Given the description of an element on the screen output the (x, y) to click on. 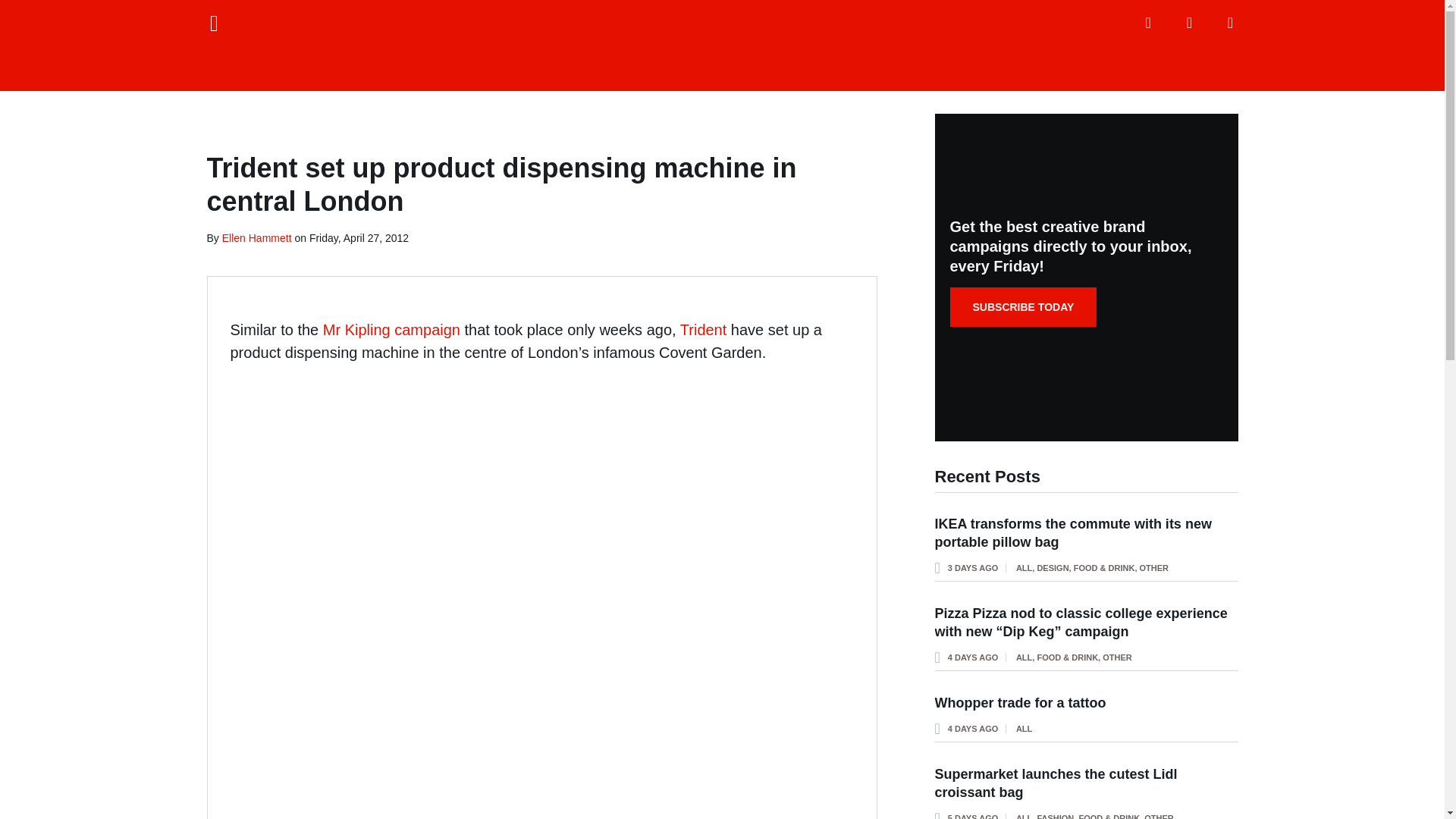
Famous Campaigns (722, 45)
Ellen Hammett (257, 237)
Whopper trade for a tattoo (1019, 702)
Supermarket launches the cutest Lidl croissant bag (1055, 783)
Mr Kipling campaign (391, 329)
Posts by Ellen Hammett (257, 237)
Trident (702, 329)
IKEA transforms the commute with its new portable pillow bag (1072, 532)
